Given the description of an element on the screen output the (x, y) to click on. 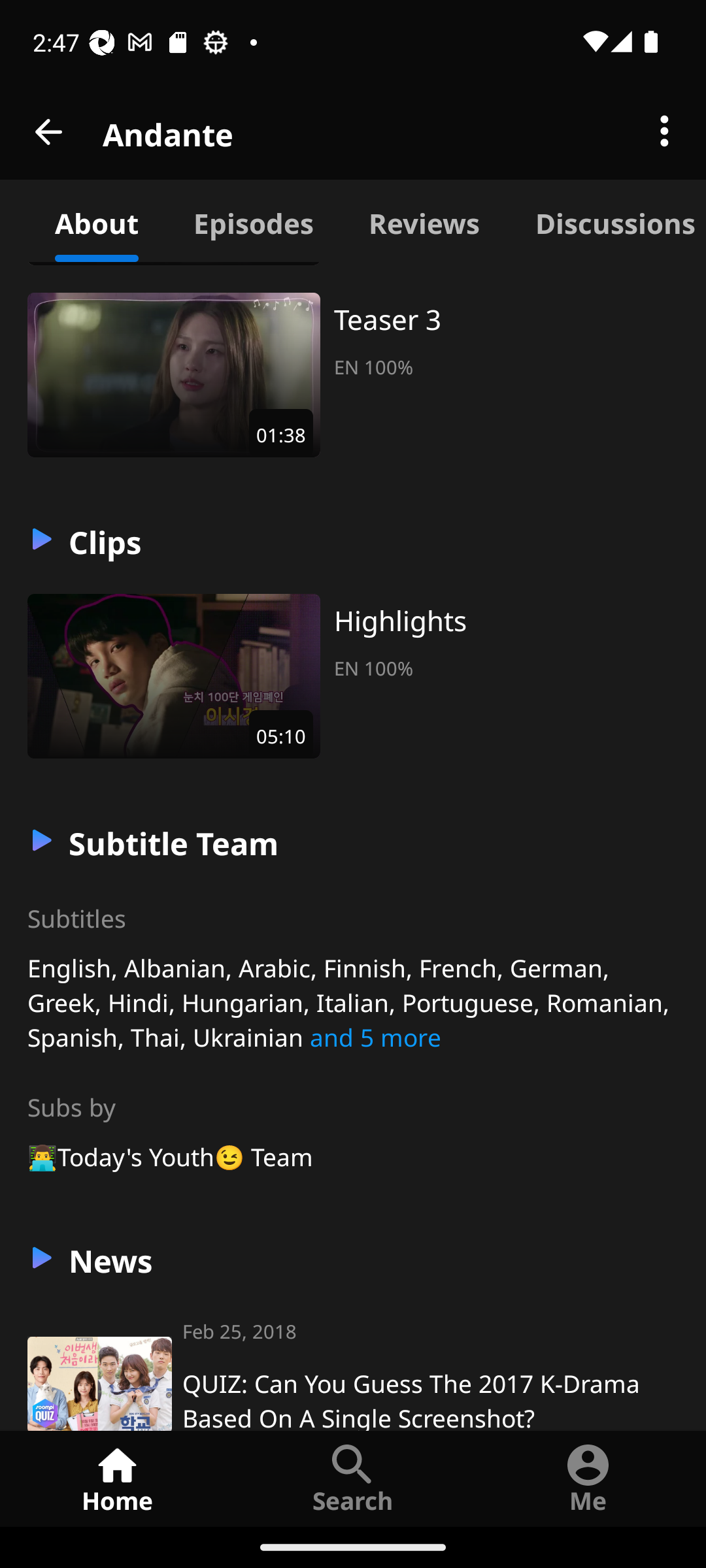
More (664, 131)
Episodes (252, 220)
Reviews (423, 220)
Discussions (606, 220)
Search (352, 1478)
Me (588, 1478)
